Given the description of an element on the screen output the (x, y) to click on. 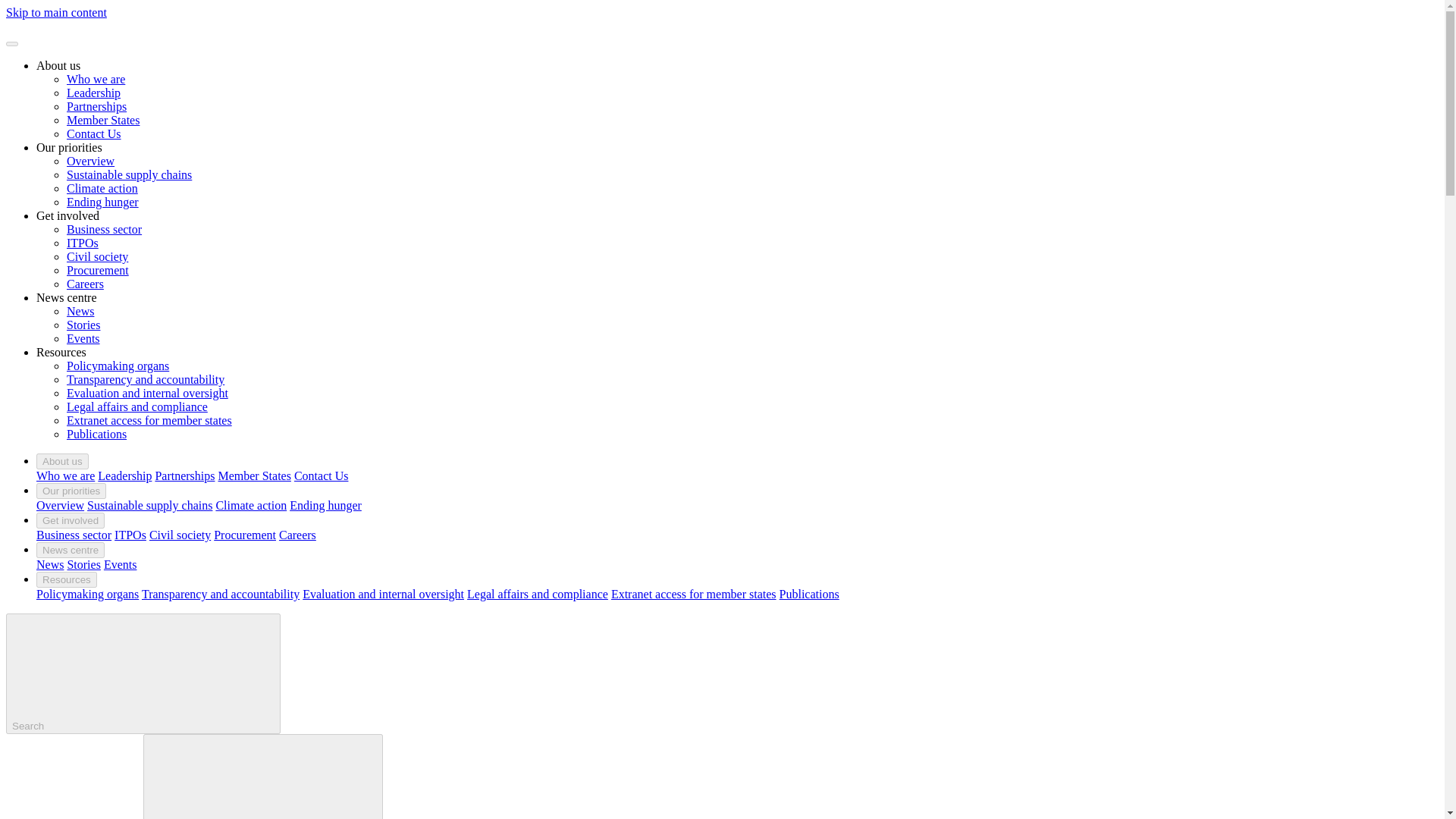
Explore our impact  (66, 297)
Member States (102, 119)
Climate change is one of the top priorities of UNIDO (102, 187)
Evaluation and internal oversight (147, 392)
Get in touch (321, 475)
Leadership (124, 475)
Contact Us (93, 133)
